Given the description of an element on the screen output the (x, y) to click on. 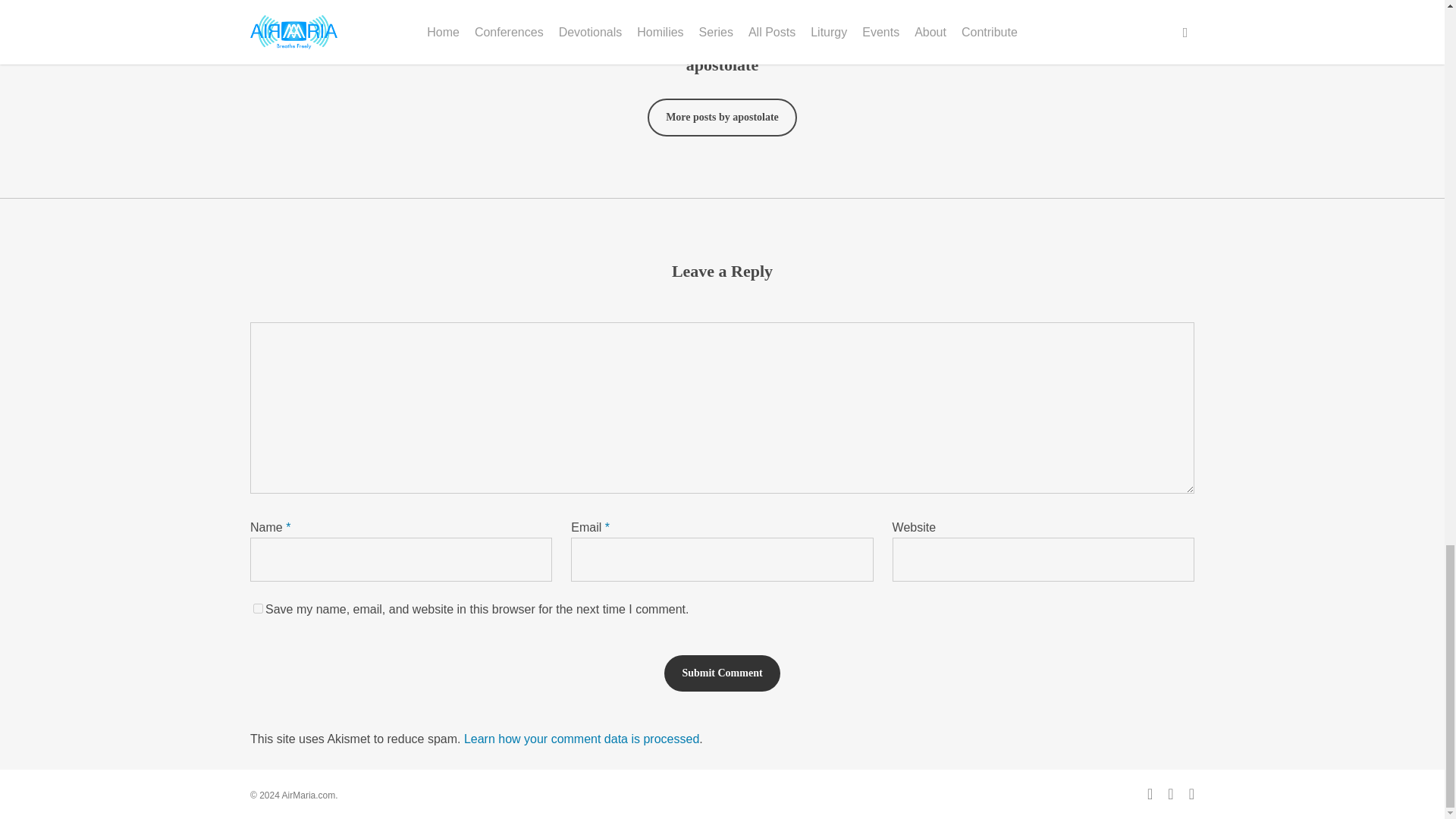
Learn how your comment data is processed (581, 738)
Submit Comment (720, 673)
twitter (1150, 793)
yes (258, 608)
Submit Comment (720, 673)
More posts by apostolate (721, 117)
youtube (1191, 793)
facebook (1170, 793)
